Given the description of an element on the screen output the (x, y) to click on. 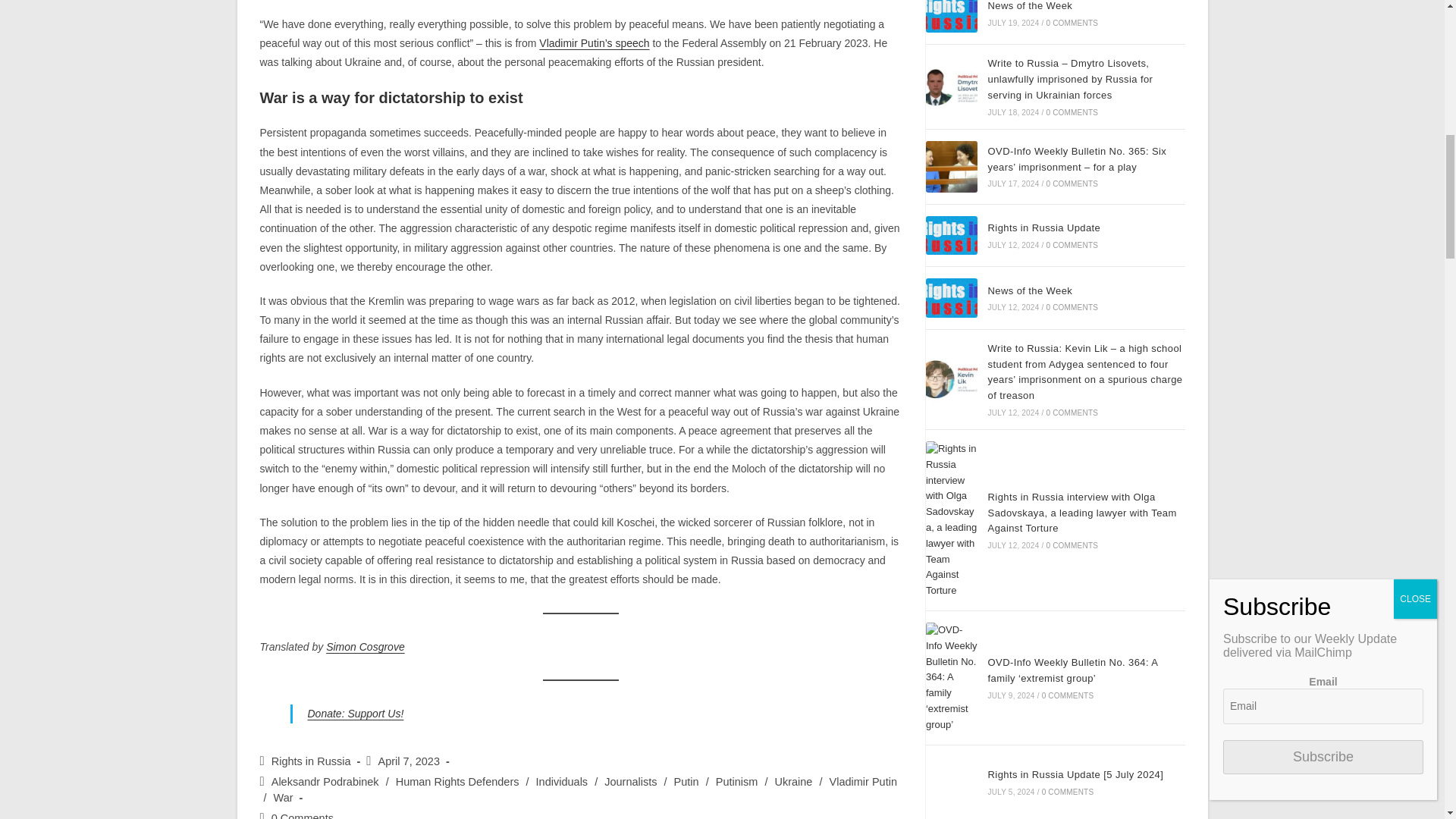
Individuals (561, 781)
Putinism (737, 781)
News of the Week (951, 16)
Donate: Support Us! (355, 713)
Human Rights Defenders (457, 781)
Putin (686, 781)
Aleksandr Podrabinek (324, 781)
Journalists (630, 781)
Ukraine (793, 781)
Rights in Russia Update (951, 234)
Simon Cosgrove (365, 646)
Posts by Rights in Russia (310, 761)
Rights in Russia (310, 761)
News of the Week (951, 297)
